Given the description of an element on the screen output the (x, y) to click on. 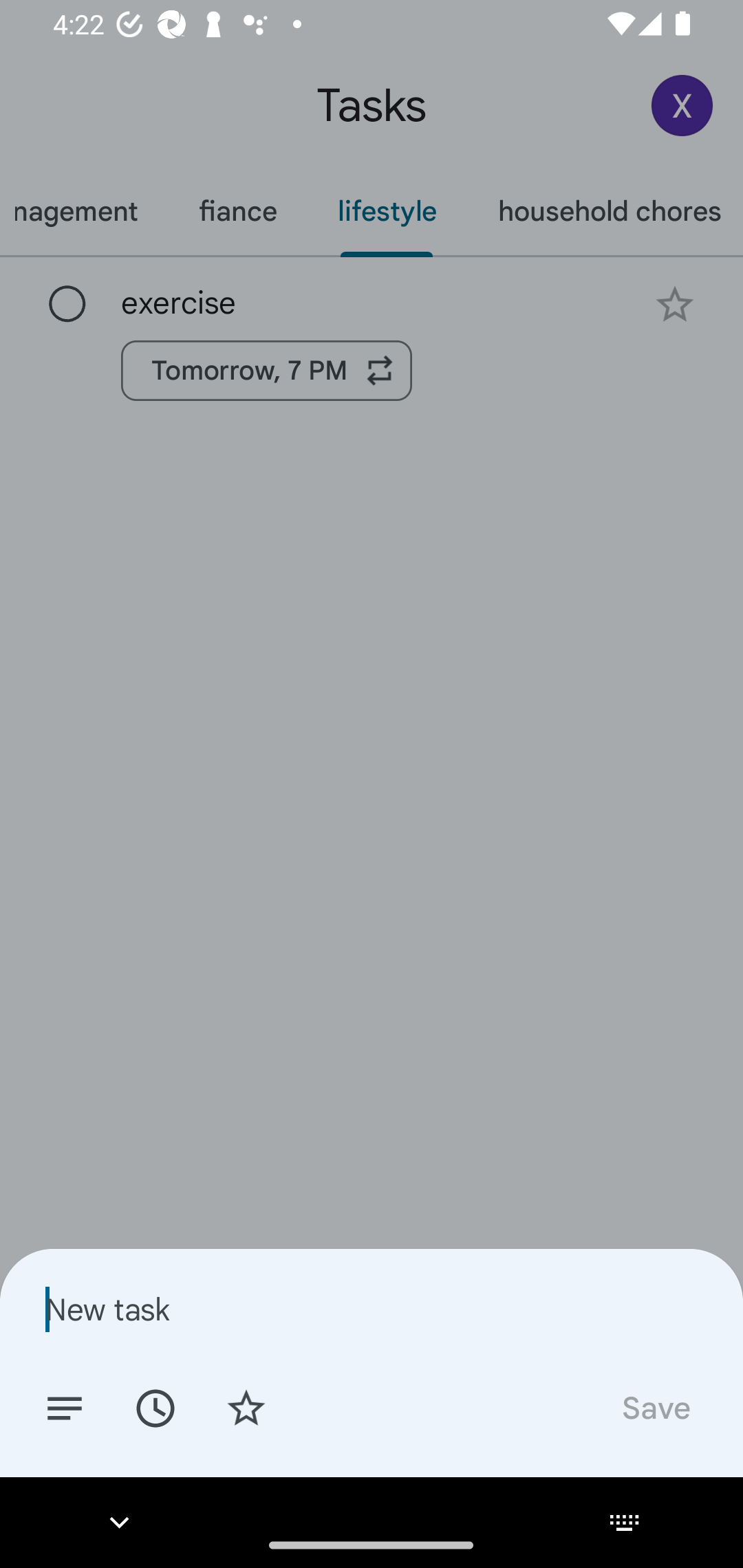
New task (371, 1308)
Save (655, 1407)
Add details (64, 1407)
Set date/time (154, 1407)
Add star (245, 1407)
